Given the description of an element on the screen output the (x, y) to click on. 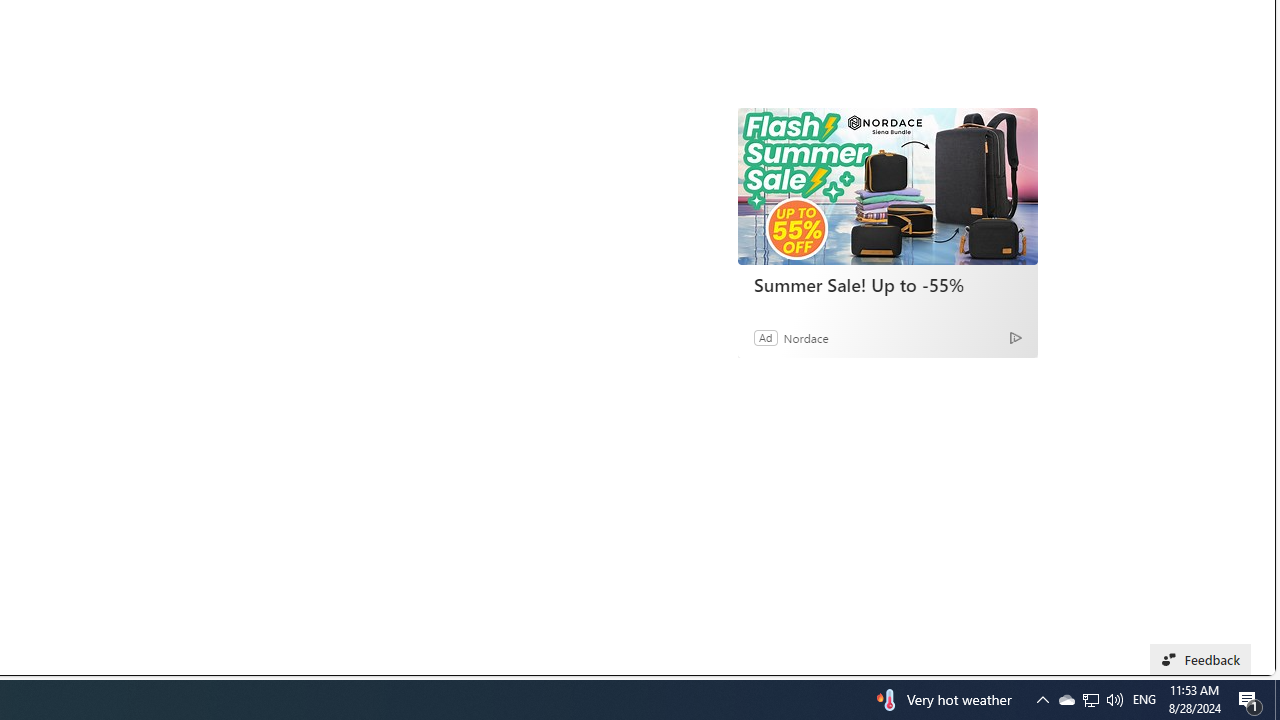
Summer Sale! Up to -55% (888, 186)
Summer Sale! Up to -55% (887, 284)
